Given the description of an element on the screen output the (x, y) to click on. 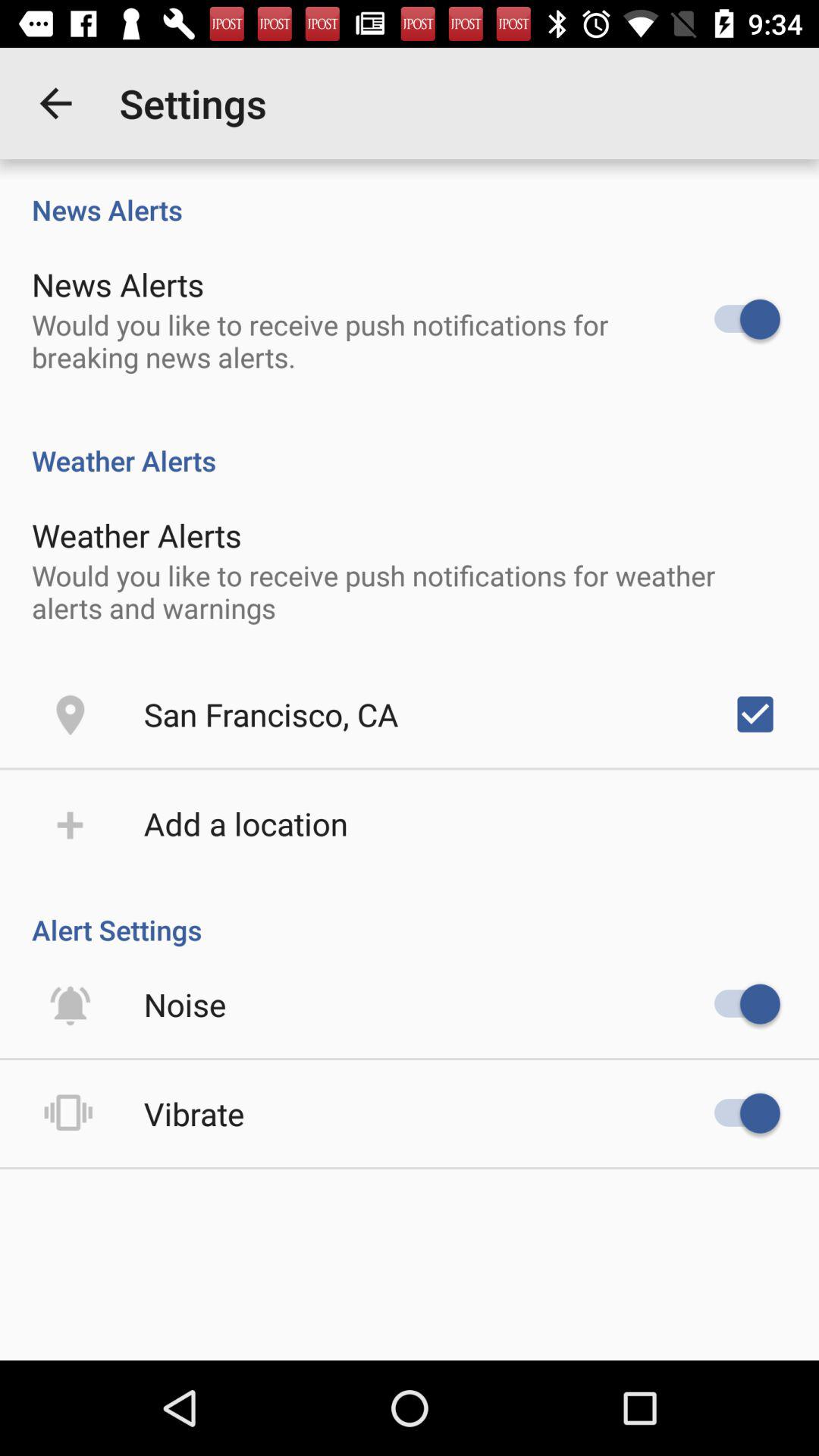
turn on item above news alerts item (55, 103)
